Given the description of an element on the screen output the (x, y) to click on. 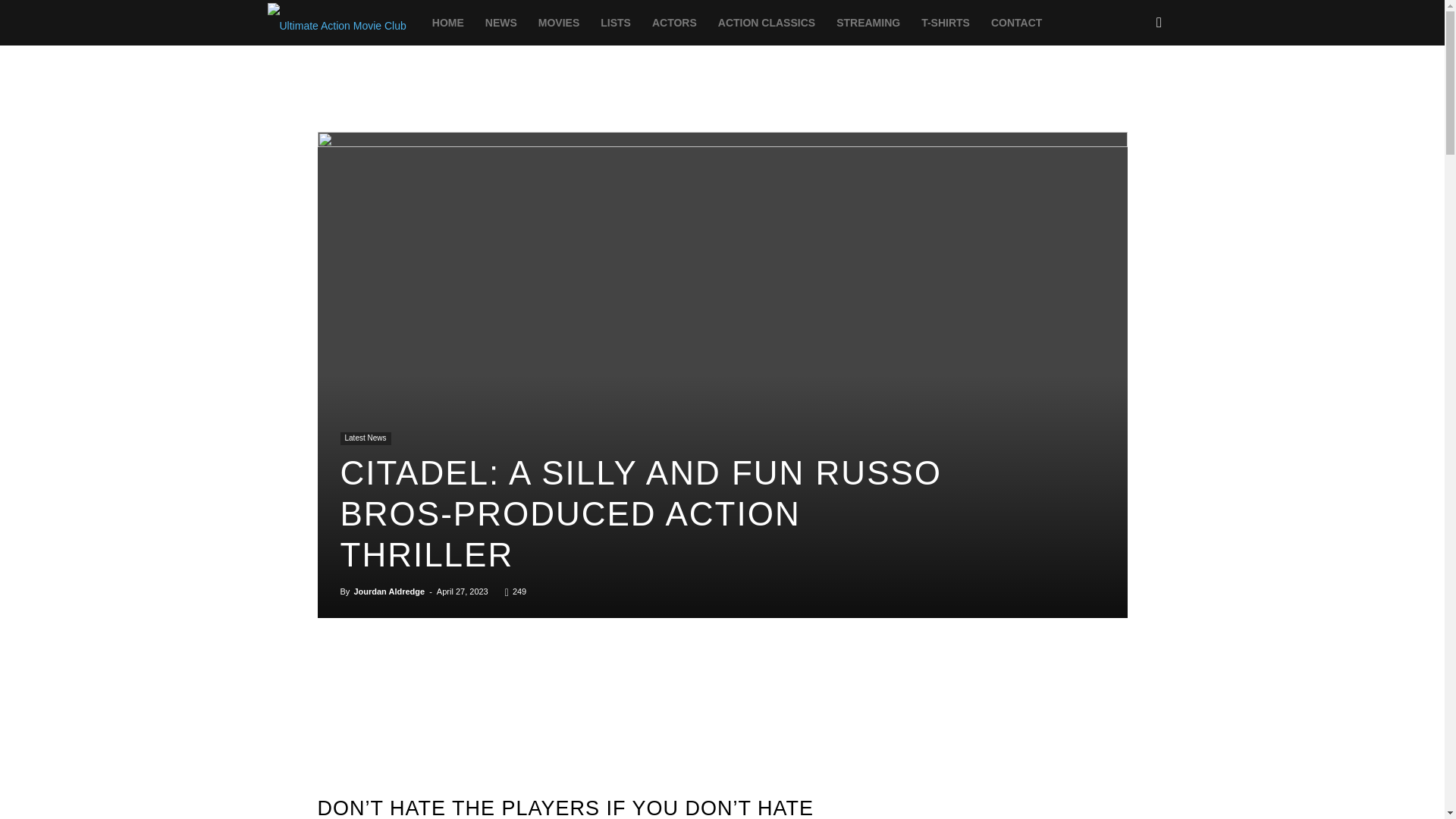
Ultimate Action Movie Club (336, 22)
